Given the description of an element on the screen output the (x, y) to click on. 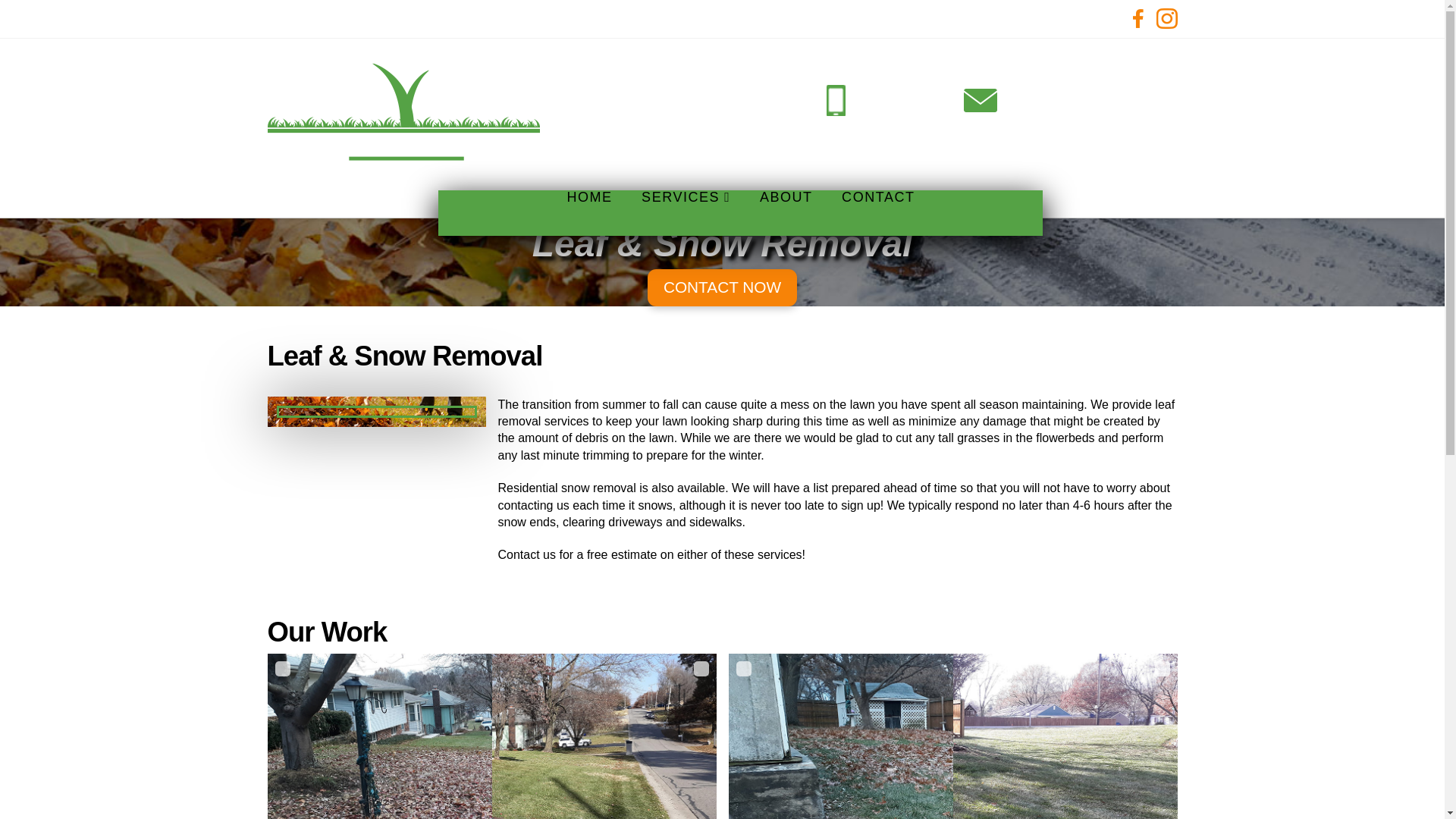
Contact us for a free estimate on either of these services! (651, 554)
CONTACT (877, 212)
HOME (589, 212)
ABOUT (785, 212)
913.375.4781 (890, 94)
SERVICES (685, 212)
CONTACT NOW (721, 287)
